Given the description of an element on the screen output the (x, y) to click on. 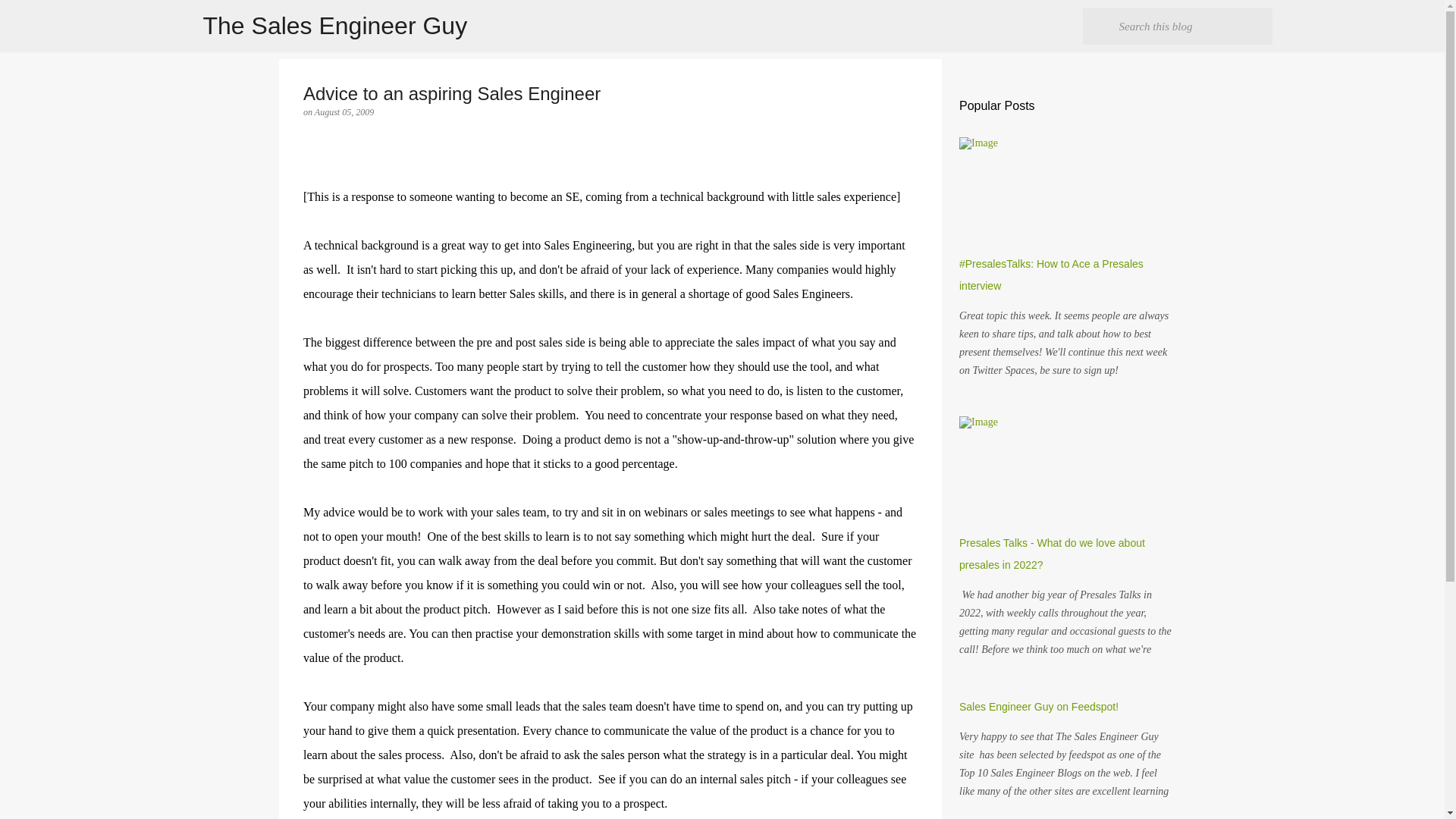
Sales Engineer Guy on Feedspot! (1038, 706)
permanent link (344, 112)
The Sales Engineer Guy (335, 25)
Presales Talks - What do we love about presales in 2022? (1051, 553)
August 05, 2009 (344, 112)
